Given the description of an element on the screen output the (x, y) to click on. 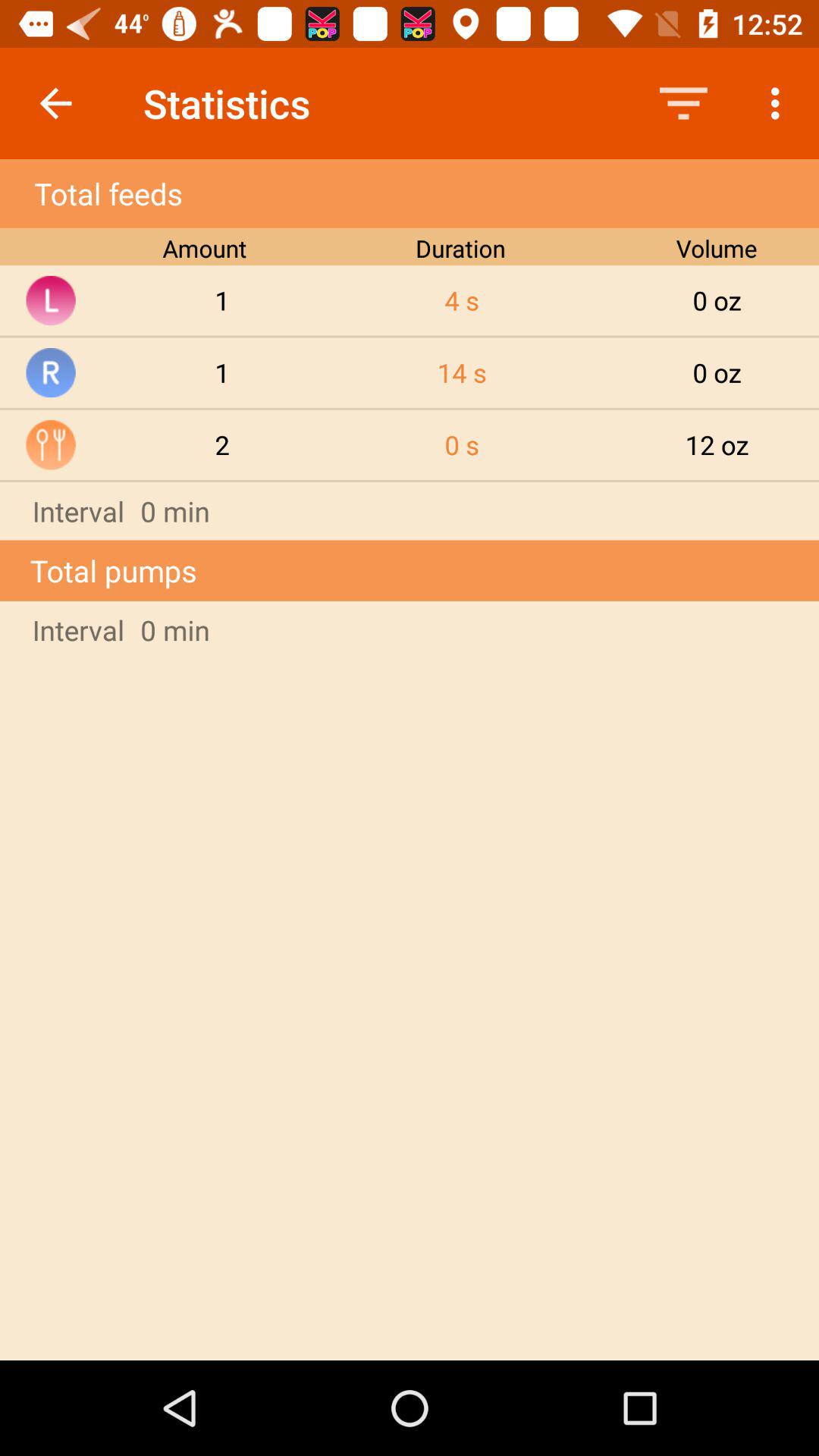
press the icon above 14 s (461, 300)
